Given the description of an element on the screen output the (x, y) to click on. 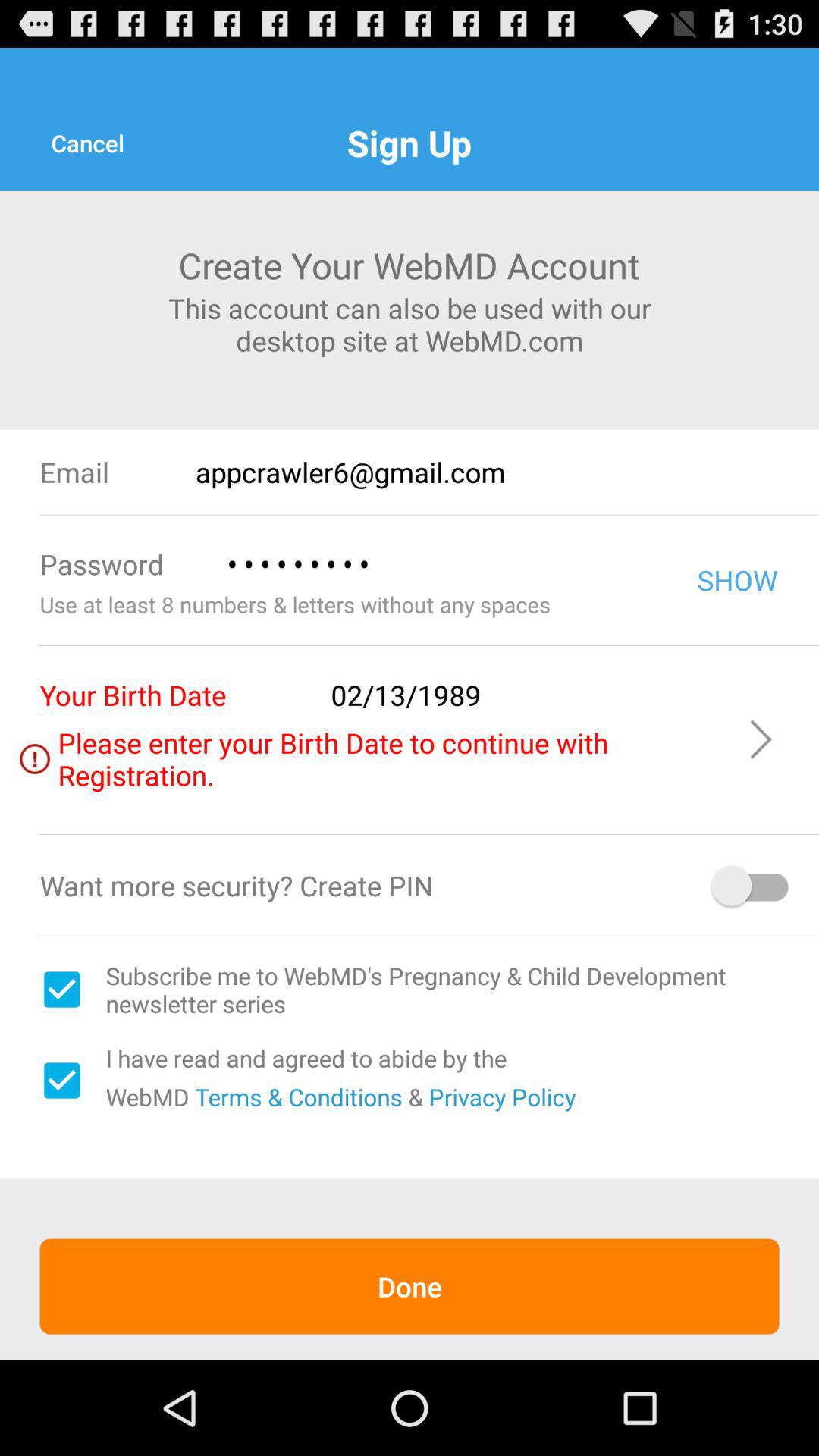
turn on the item above the done item (61, 1080)
